Given the description of an element on the screen output the (x, y) to click on. 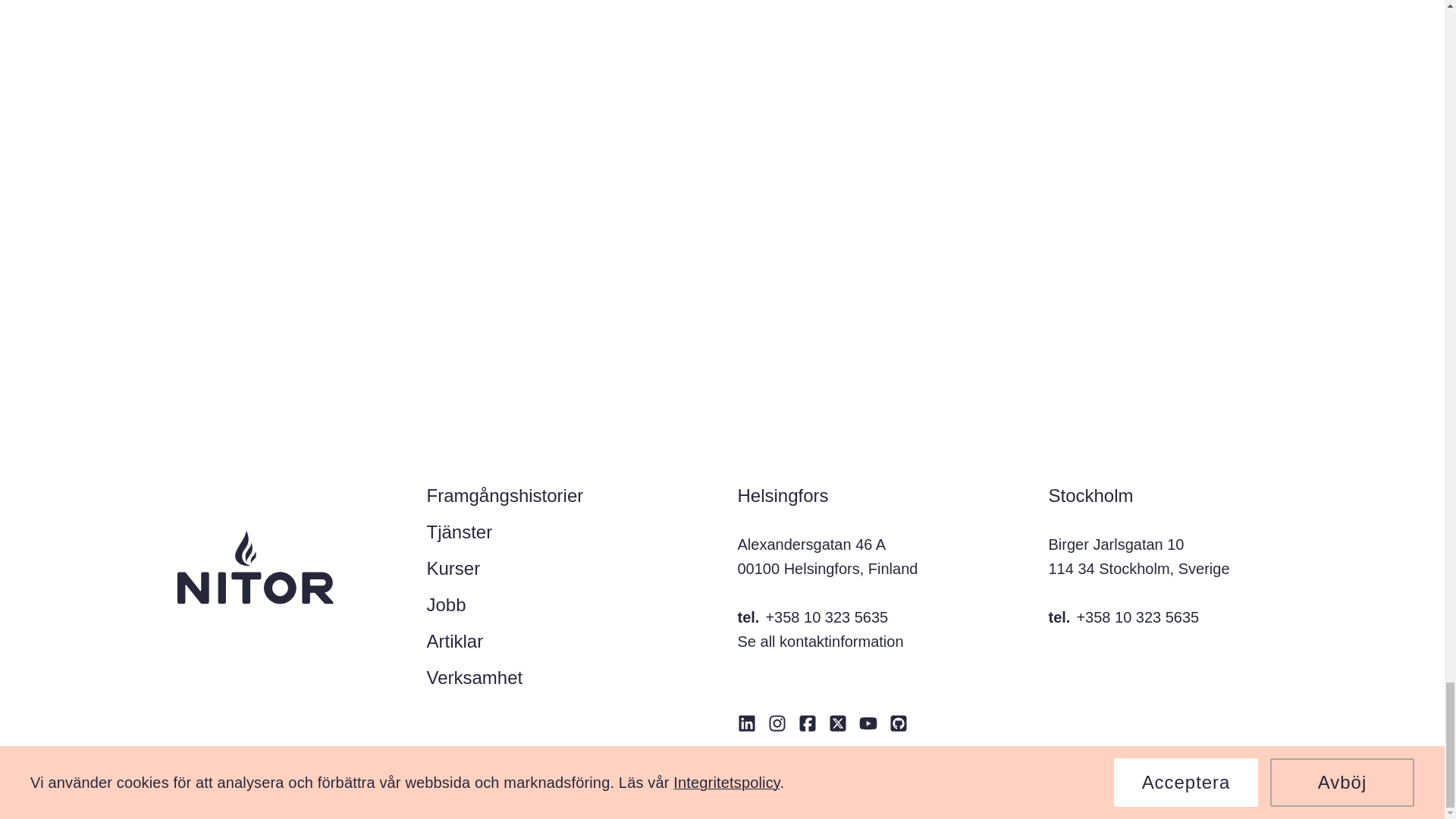
Se all kontaktinformation (819, 641)
X (836, 723)
YouTube (867, 723)
Instagram (776, 723)
Facebook (806, 723)
LinkedIn (745, 723)
Verksamhet (474, 677)
Kurser (453, 568)
GitHub (897, 723)
Jobb (445, 604)
Integritetspolicy (847, 757)
Artiklar (454, 641)
